Given the description of an element on the screen output the (x, y) to click on. 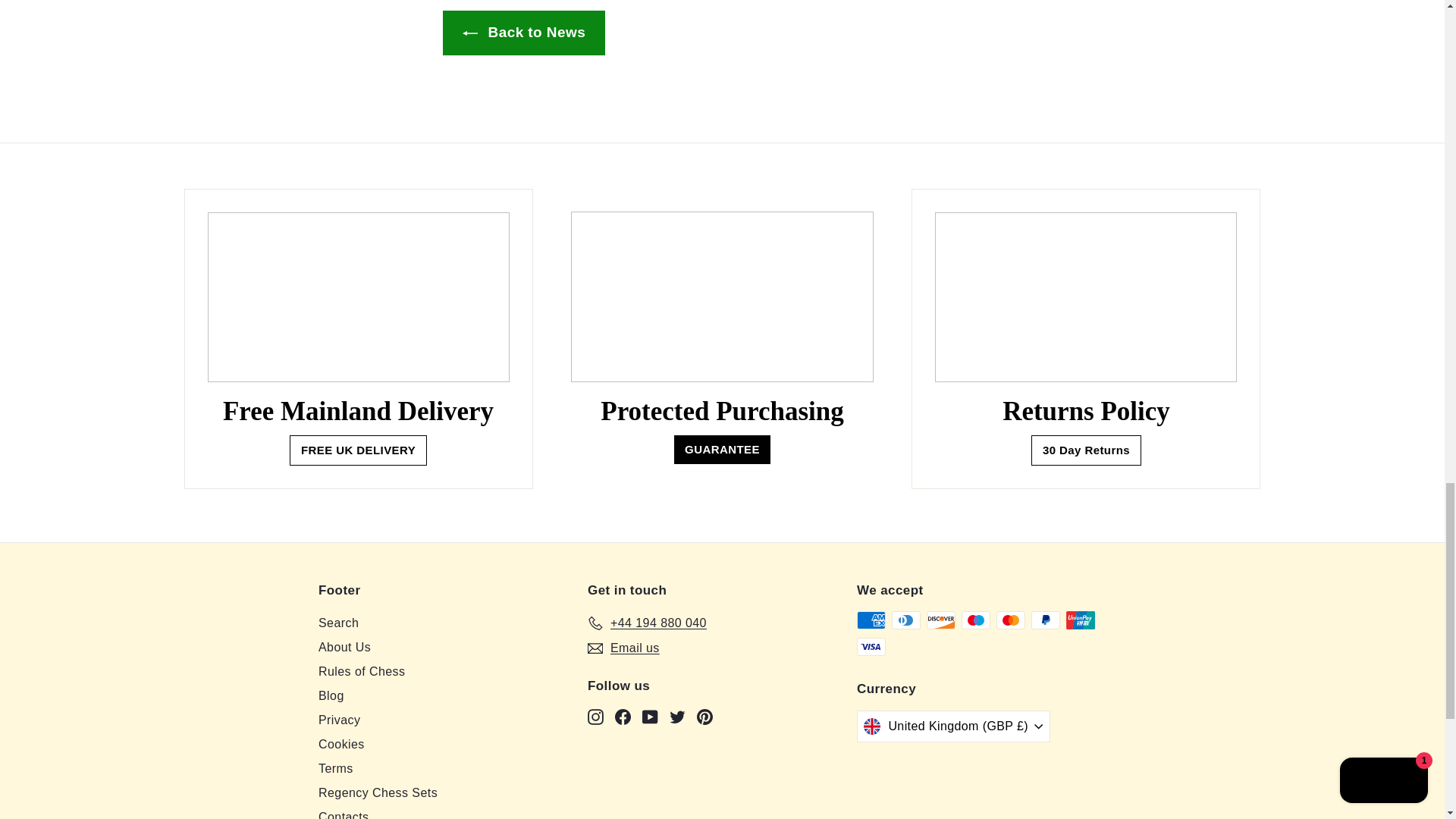
Official Staunton on Instagram (596, 716)
Official Staunton on Facebook (622, 716)
Official Staunton on Pinterest (705, 716)
Official Staunton on Twitter (677, 716)
Official Staunton on YouTube (650, 716)
